Given the description of an element on the screen output the (x, y) to click on. 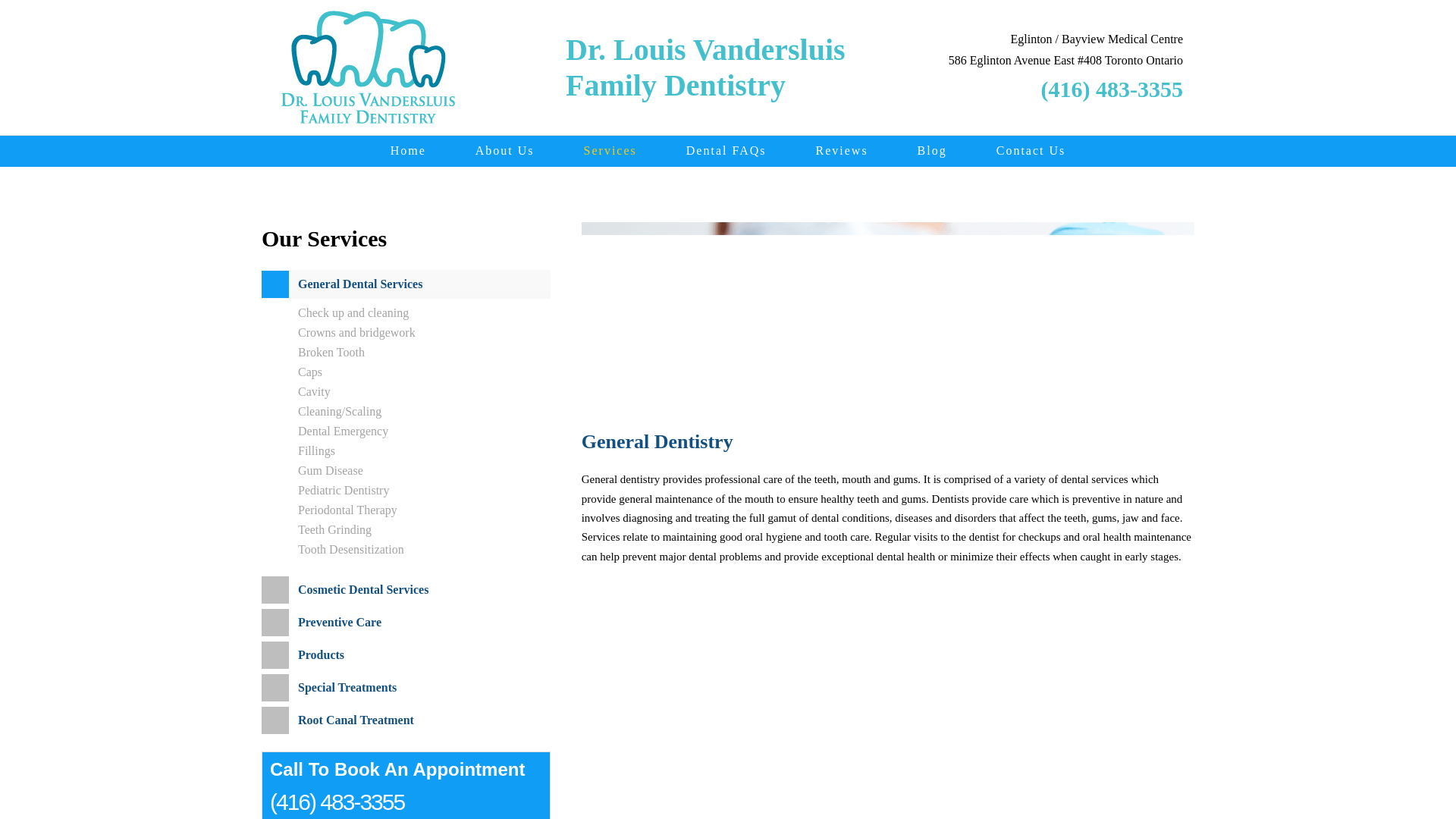
Broken Tooth (331, 351)
Cavity (314, 391)
Fillings (316, 450)
Crowns and bridgework (356, 332)
Teeth Grinding (334, 529)
Services (610, 150)
Contact Us (1030, 150)
Periodontal Therapy (347, 509)
Home (408, 150)
Caps (309, 371)
